Given the description of an element on the screen output the (x, y) to click on. 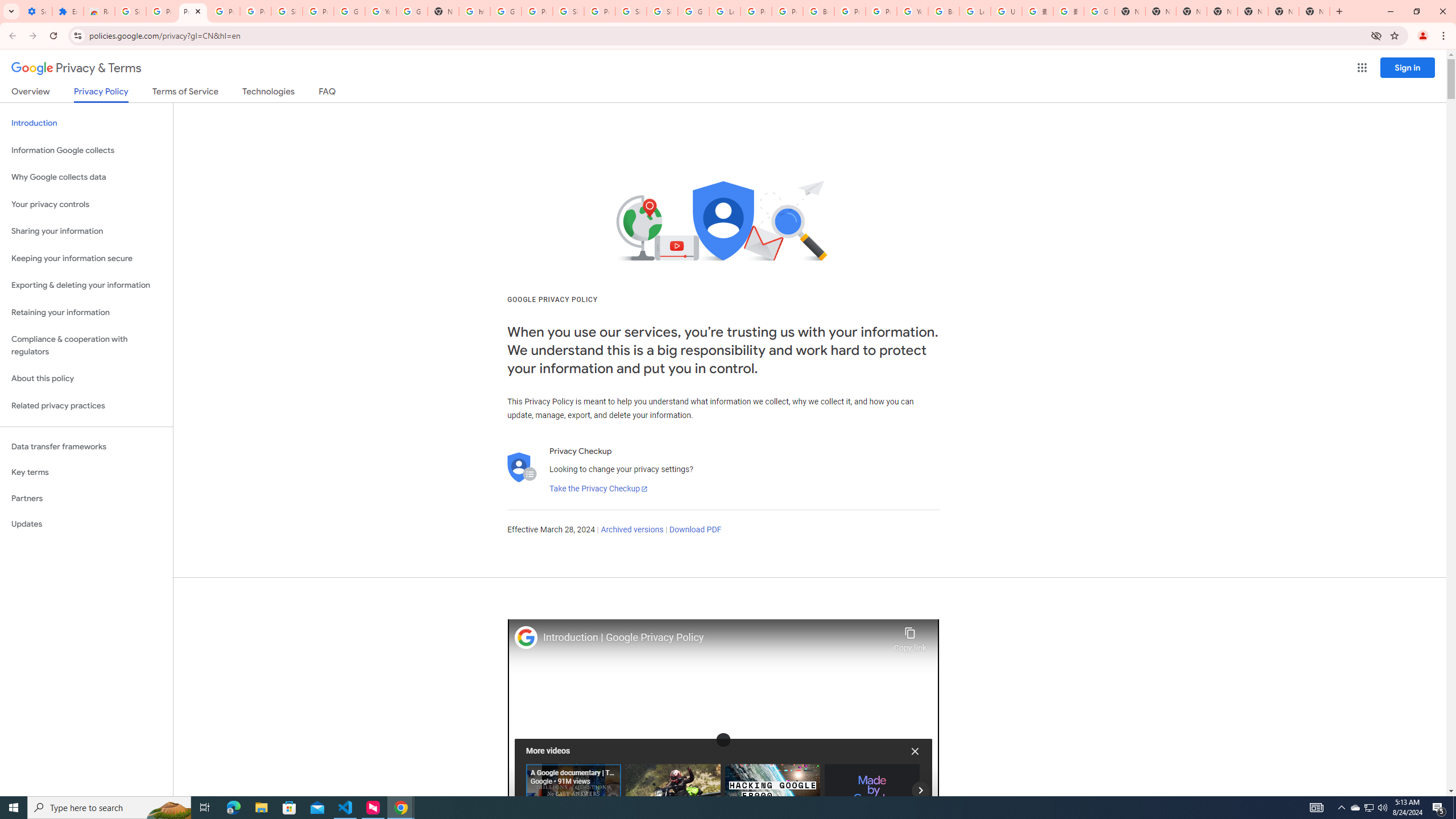
About this policy (86, 379)
Copy link (909, 636)
Why Google collects data (86, 176)
Privacy Help Center - Policies Help (787, 11)
Privacy Help Center - Policies Help (756, 11)
Key terms (86, 472)
